Given the description of an element on the screen output the (x, y) to click on. 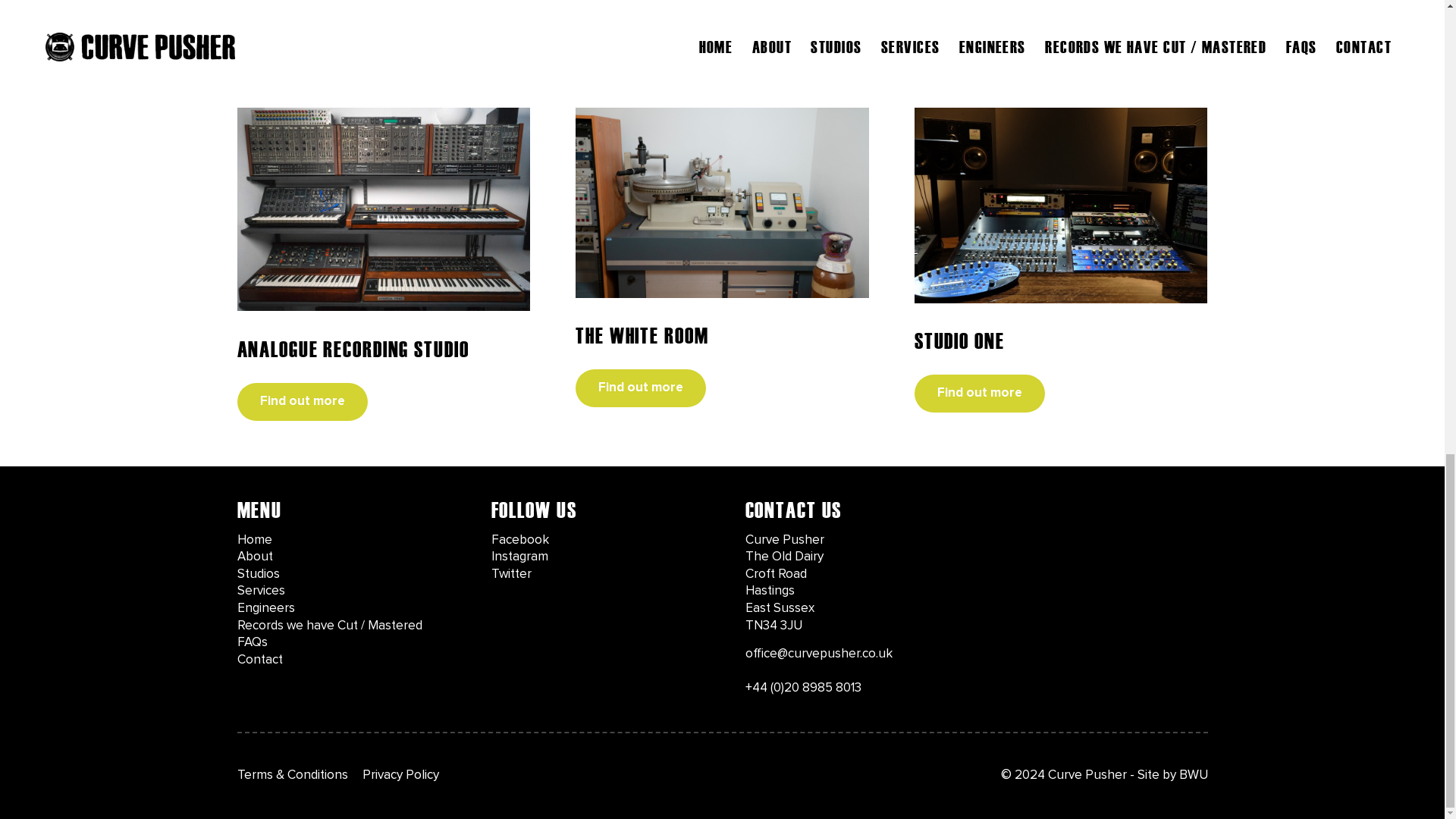
ANALOGUE RECORDING STUDIO (351, 349)
Find out more (300, 401)
THE WHITE ROOM (641, 336)
